Given the description of an element on the screen output the (x, y) to click on. 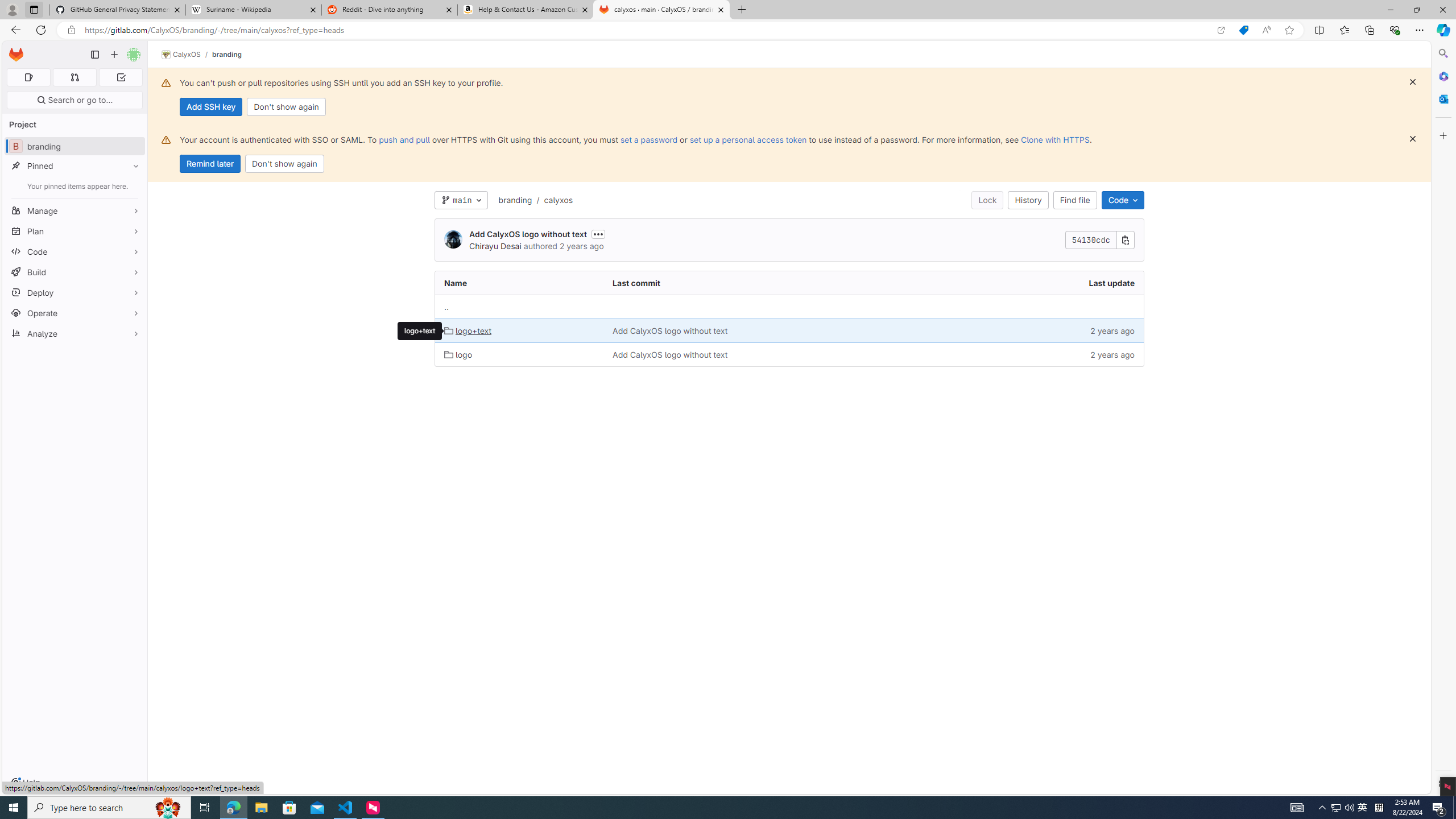
CalyxOS (180, 54)
calyxos (558, 199)
push and pull (403, 139)
Last commit (774, 282)
Plan (74, 230)
/calyxos (552, 199)
